Given the description of an element on the screen output the (x, y) to click on. 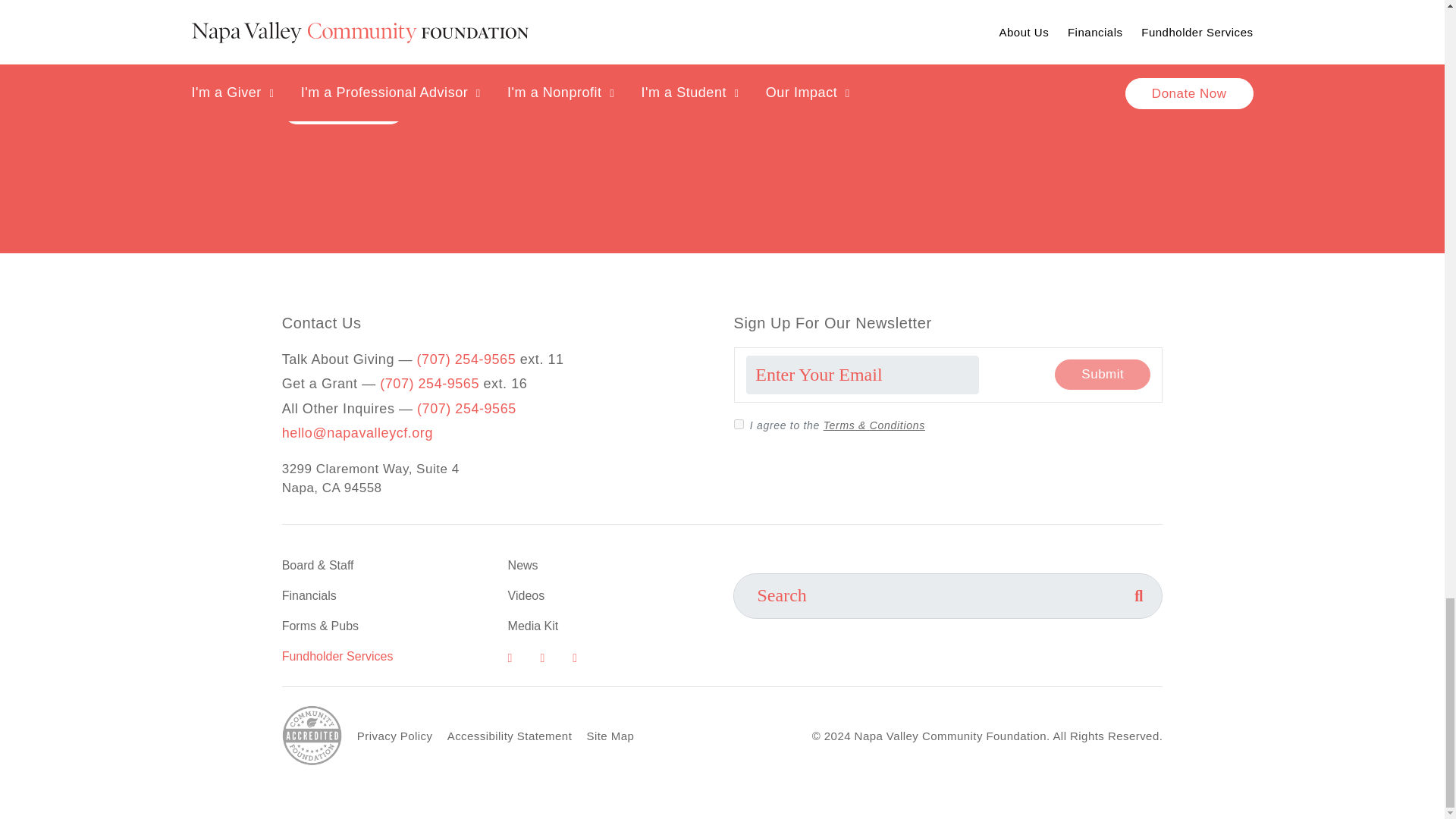
1 (738, 424)
